Given the description of an element on the screen output the (x, y) to click on. 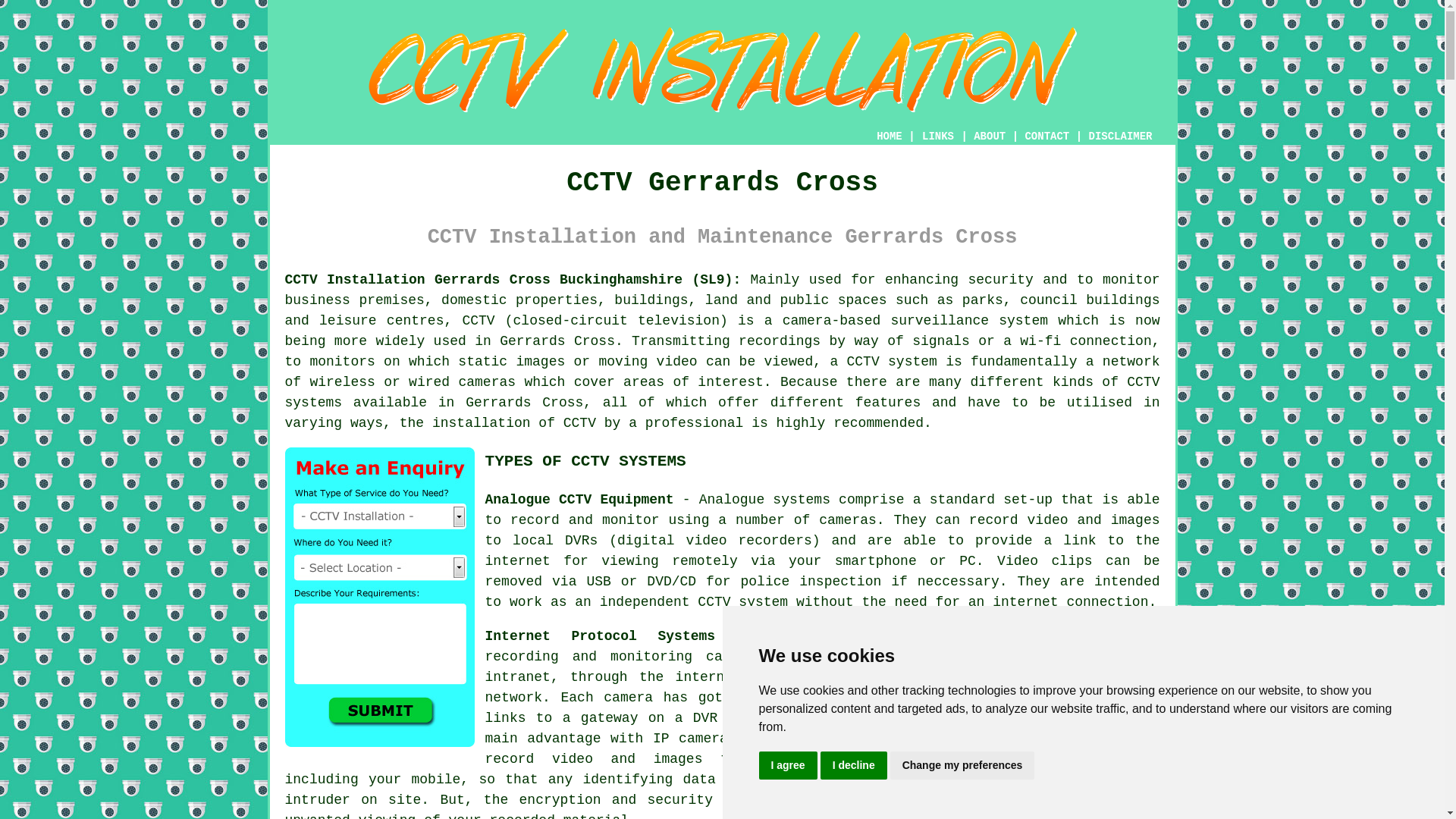
LINKS (938, 136)
CCTV Installation Gerrards Cross Buckinghamshire (1046, 700)
I agree (787, 765)
Change my preferences (962, 765)
CCTV Installation Gerrards Cross (721, 69)
HOME (889, 136)
I decline (853, 765)
cameras (847, 519)
